Given the description of an element on the screen output the (x, y) to click on. 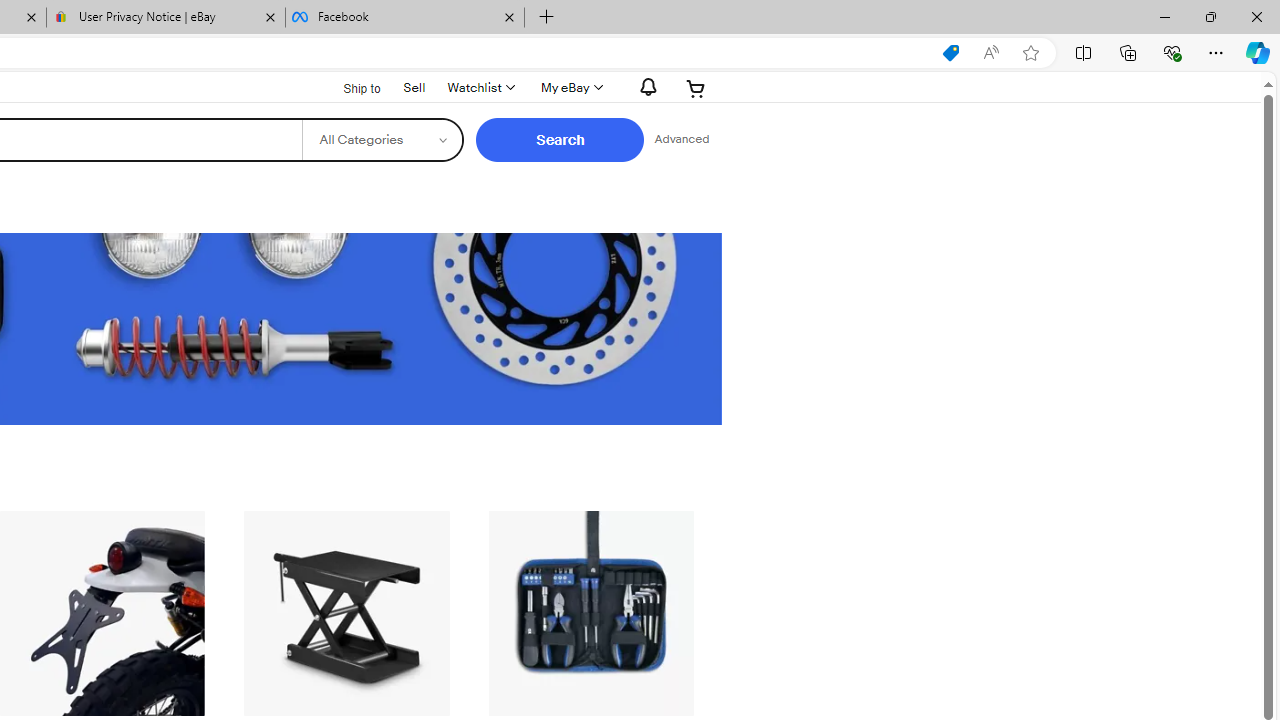
My eBayExpand My eBay (569, 88)
Your shopping cart (696, 88)
AutomationID: gh-eb-Alerts (645, 87)
My eBay (569, 88)
Select a category for search (382, 139)
Advanced Search (681, 139)
